Given the description of an element on the screen output the (x, y) to click on. 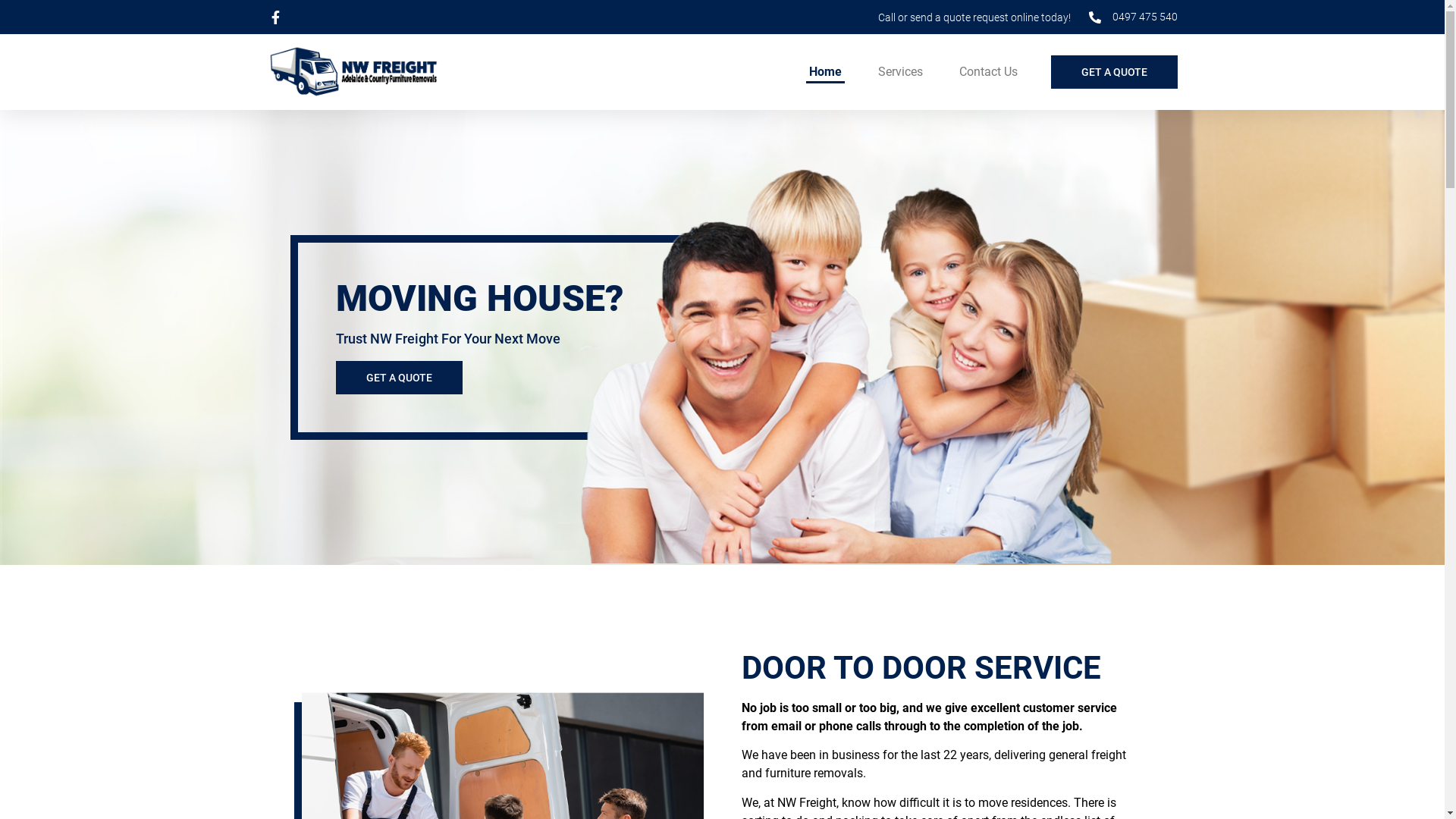
Services Element type: text (900, 71)
GET A QUOTE Element type: text (1114, 71)
Contact Us Element type: text (987, 71)
GET A QUOTE Element type: text (398, 377)
Home Element type: text (824, 71)
